Given the description of an element on the screen output the (x, y) to click on. 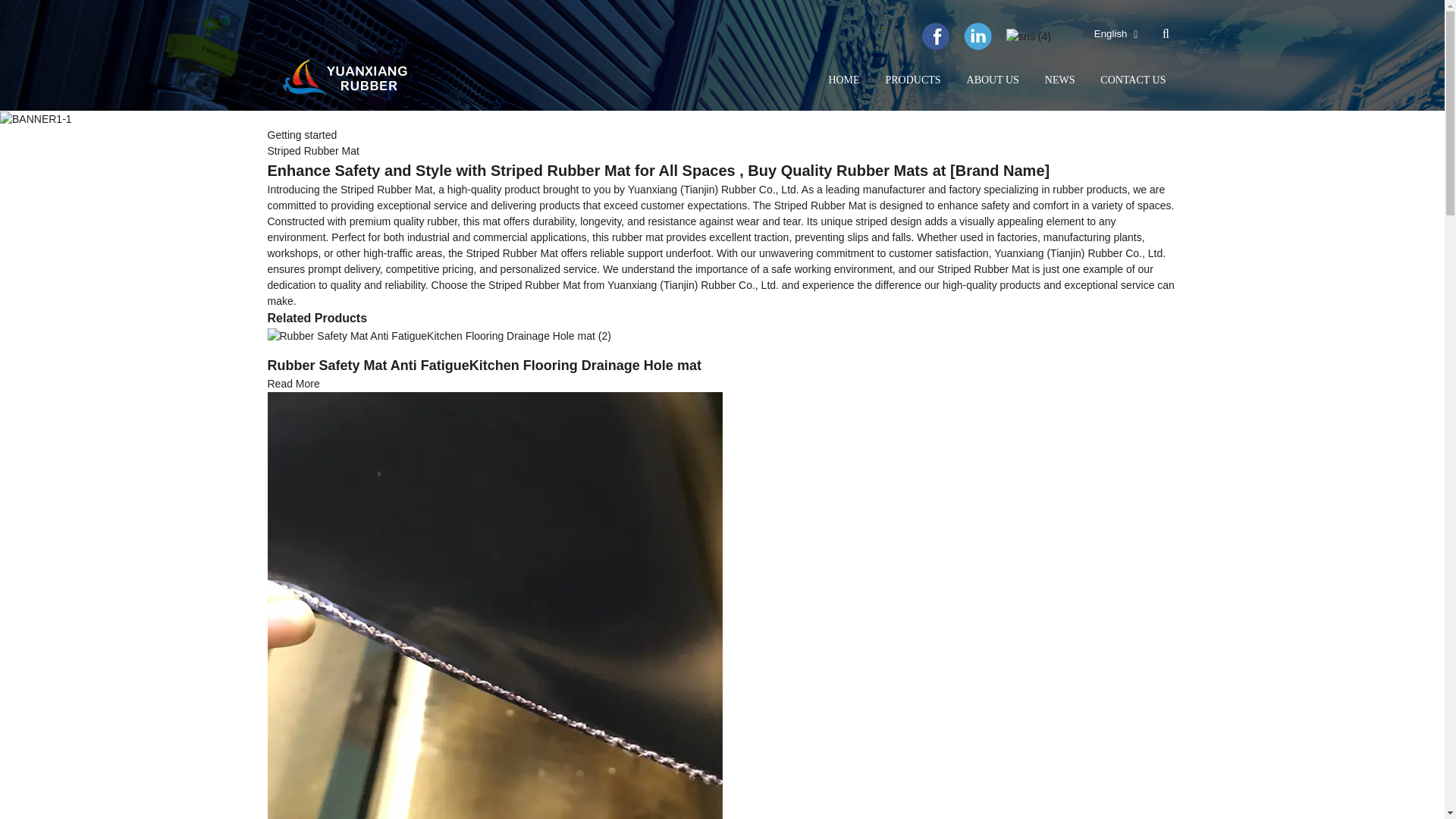
PRODUCTS (912, 79)
Read More (292, 383)
Striped Rubber Mat (312, 150)
English (1098, 33)
Cloth Inserted Rubber mat (494, 617)
Getting started (301, 134)
ABOUT US (992, 79)
CONTACT US (1132, 79)
